Given the description of an element on the screen output the (x, y) to click on. 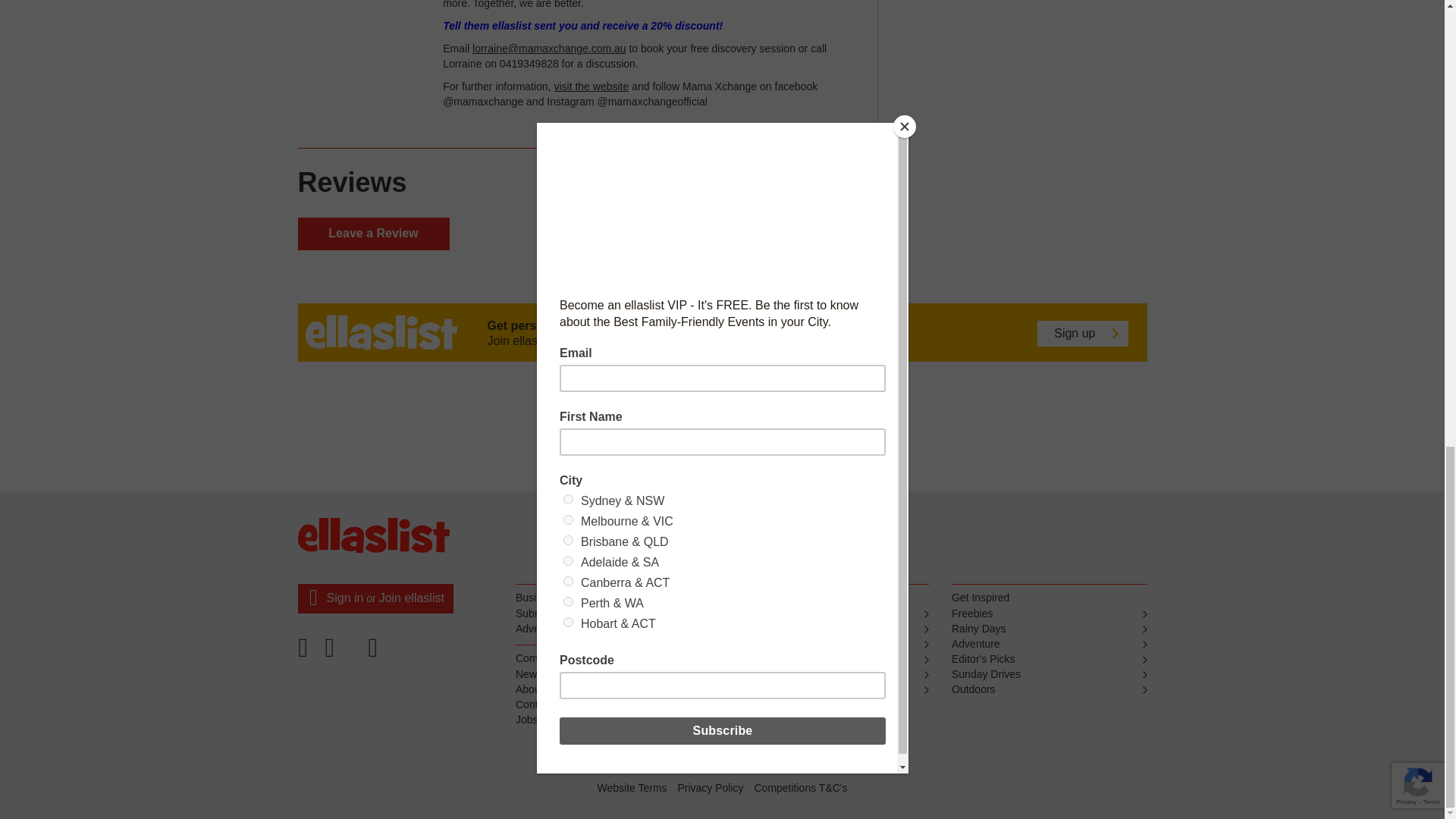
Childcare (831, 674)
visit the website (590, 86)
Kids Classes (831, 629)
Submit an Event (613, 613)
Facebook (306, 653)
Leave a Review (372, 233)
About Us (613, 689)
Join ellaslist (411, 597)
Instagram (375, 653)
Fitness (831, 644)
Sign in (344, 597)
Newsletter Subscribe (613, 674)
Holiday Programs (831, 689)
Pinterest (341, 653)
